Given the description of an element on the screen output the (x, y) to click on. 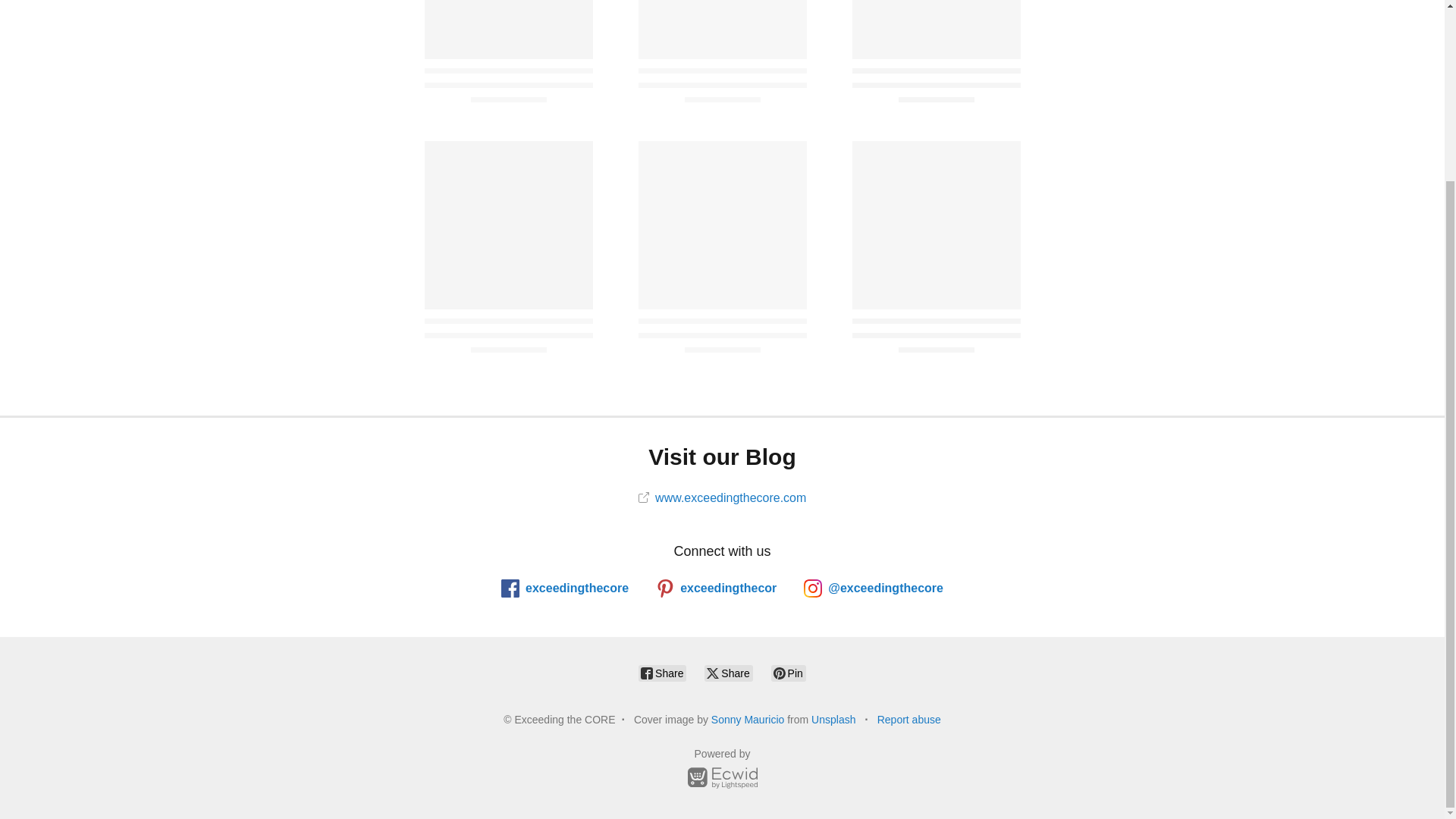
Pin (788, 673)
Unsplash (833, 719)
Powered by (722, 770)
Report abuse (908, 719)
Sonny Mauricio (747, 719)
Share (662, 673)
exceedingthecore (564, 588)
www.exceedingthecore.com (722, 497)
exceedingthecor (716, 588)
Share (728, 673)
